Given the description of an element on the screen output the (x, y) to click on. 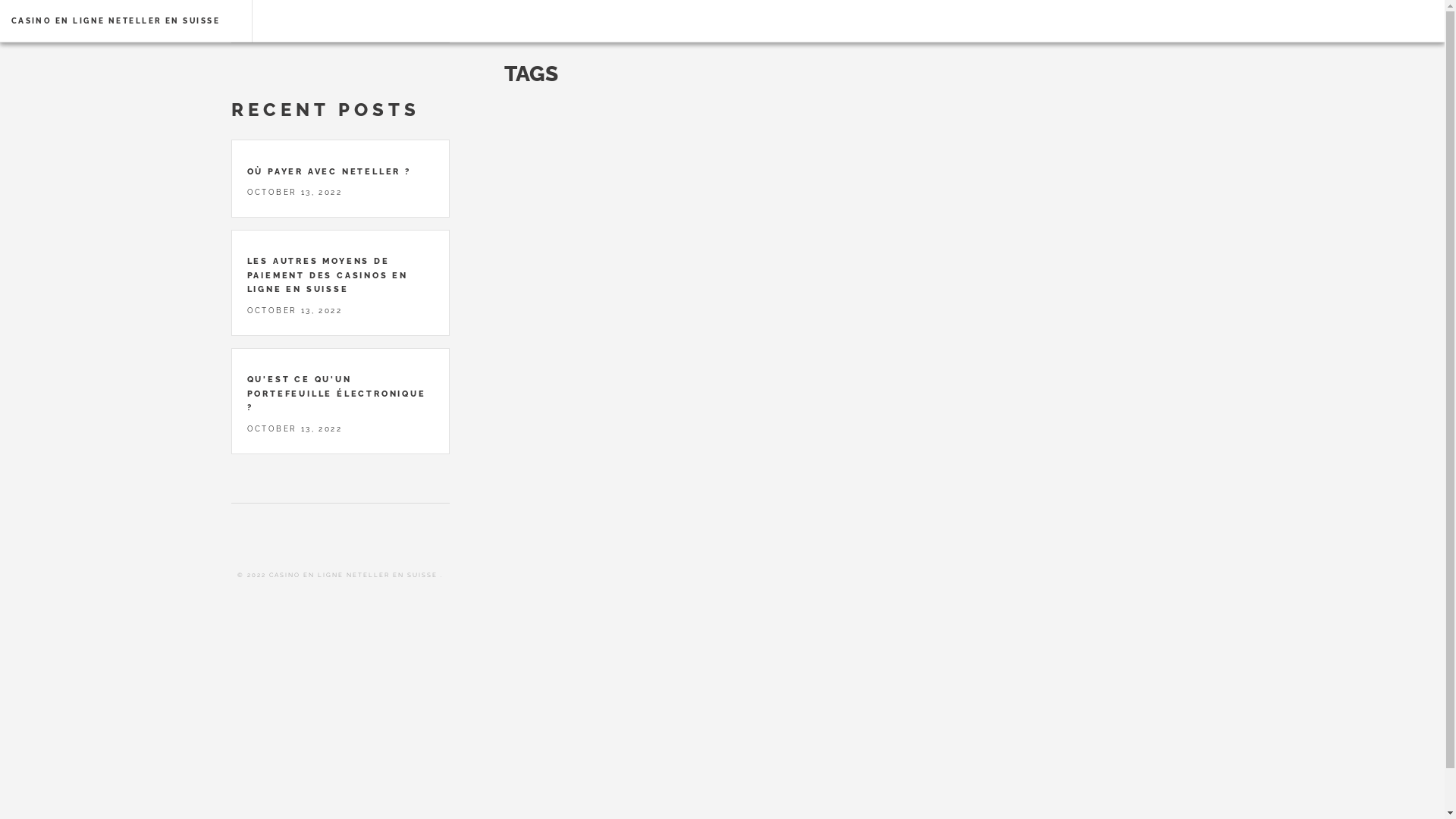
LES AUTRES MOYENS DE PAIEMENT DES CASINOS EN LIGNE EN SUISSE Element type: text (327, 274)
CASINO EN LIGNE NETELLER EN SUISSE Element type: text (115, 21)
